Given the description of an element on the screen output the (x, y) to click on. 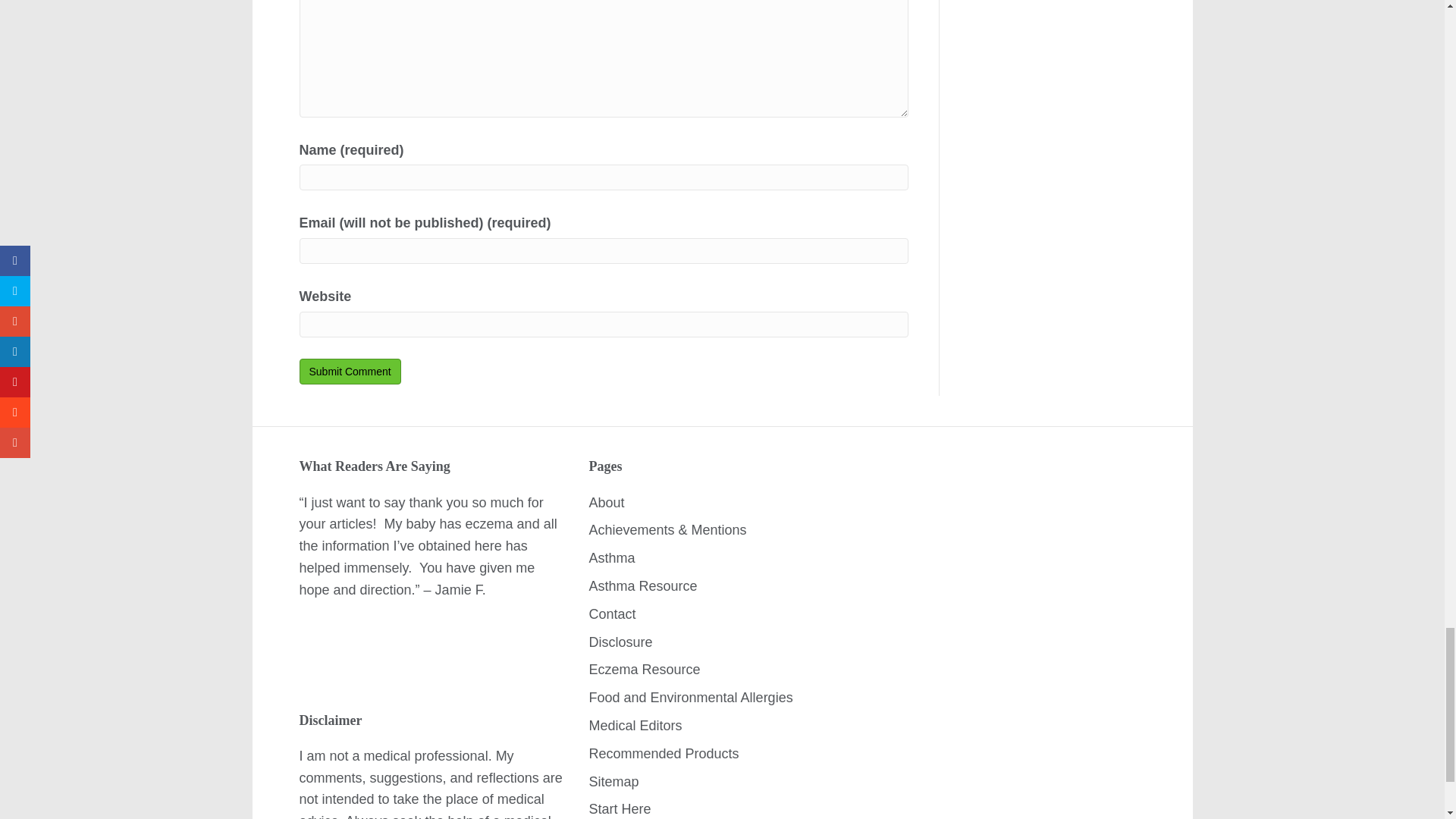
Submit Comment (349, 371)
